Given the description of an element on the screen output the (x, y) to click on. 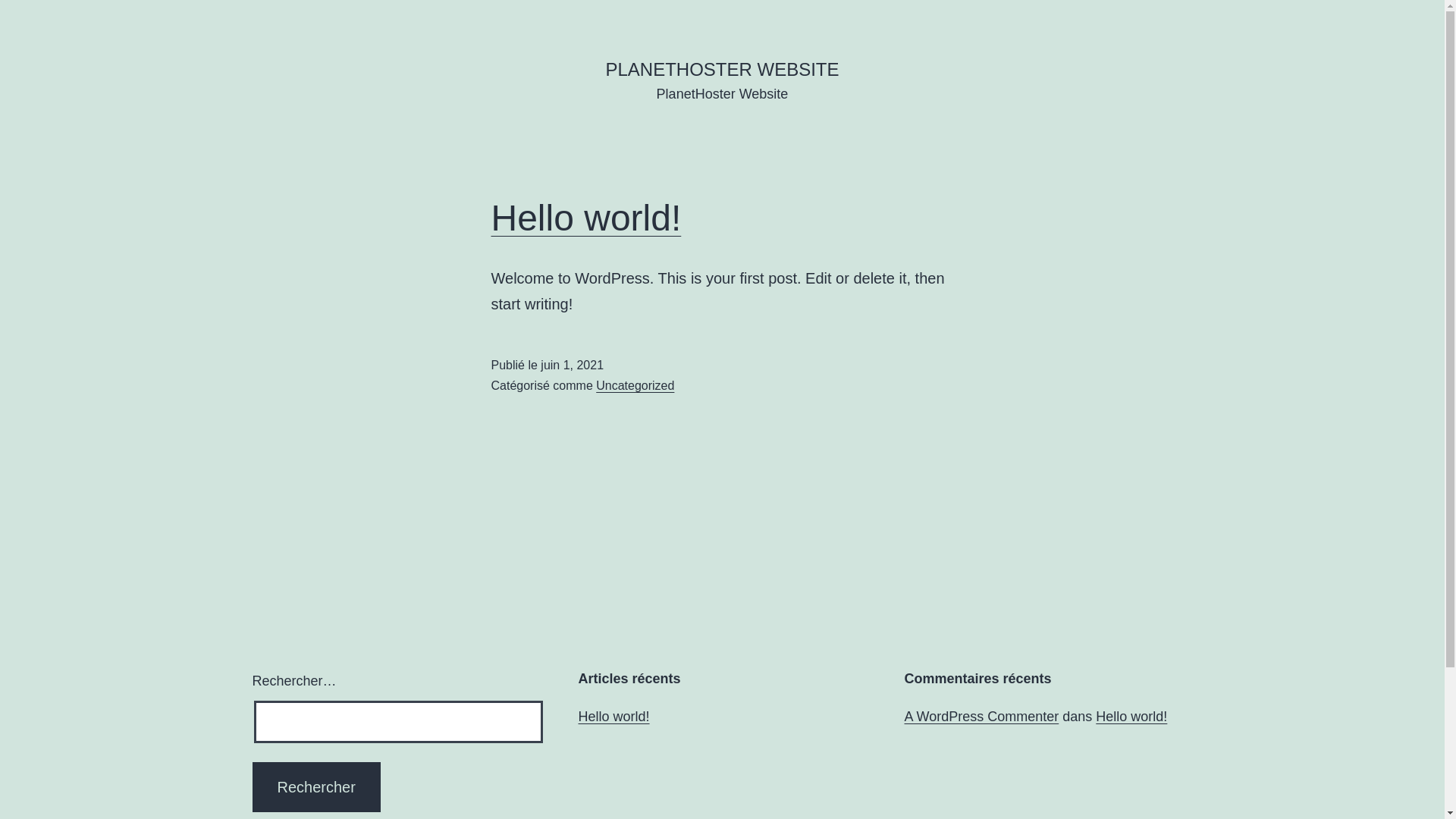
A WordPress Commenter Element type: text (980, 716)
Hello world! Element type: text (586, 217)
Uncategorized Element type: text (635, 385)
Rechercher Element type: text (315, 787)
Hello world! Element type: text (613, 716)
Hello world! Element type: text (1131, 716)
